Given the description of an element on the screen output the (x, y) to click on. 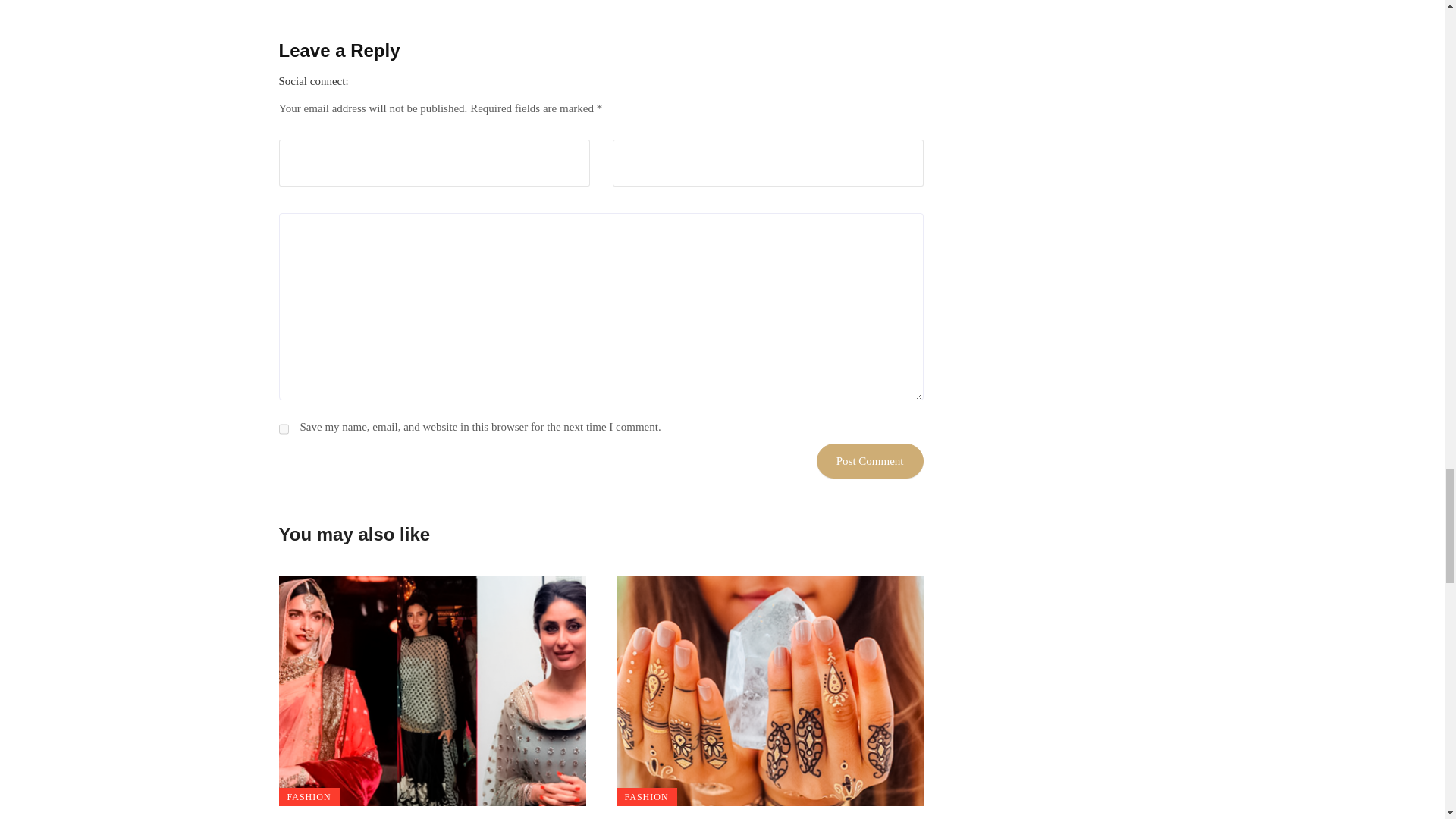
Post Comment (869, 460)
